Given the description of an element on the screen output the (x, y) to click on. 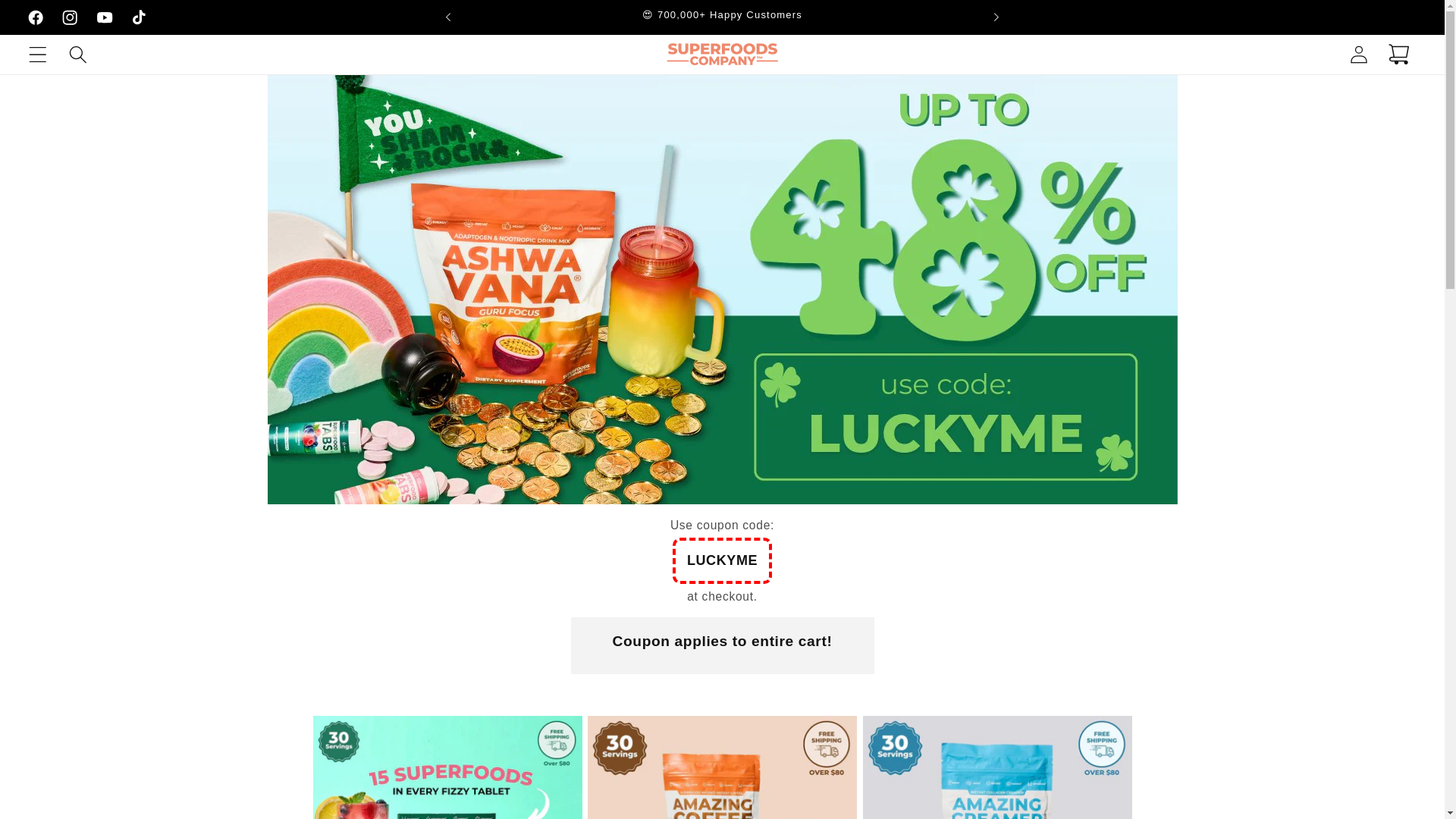
Facebook (34, 17)
YouTube (104, 17)
Skip to content (55, 20)
TikTok (139, 17)
Instagram (69, 17)
